Given the description of an element on the screen output the (x, y) to click on. 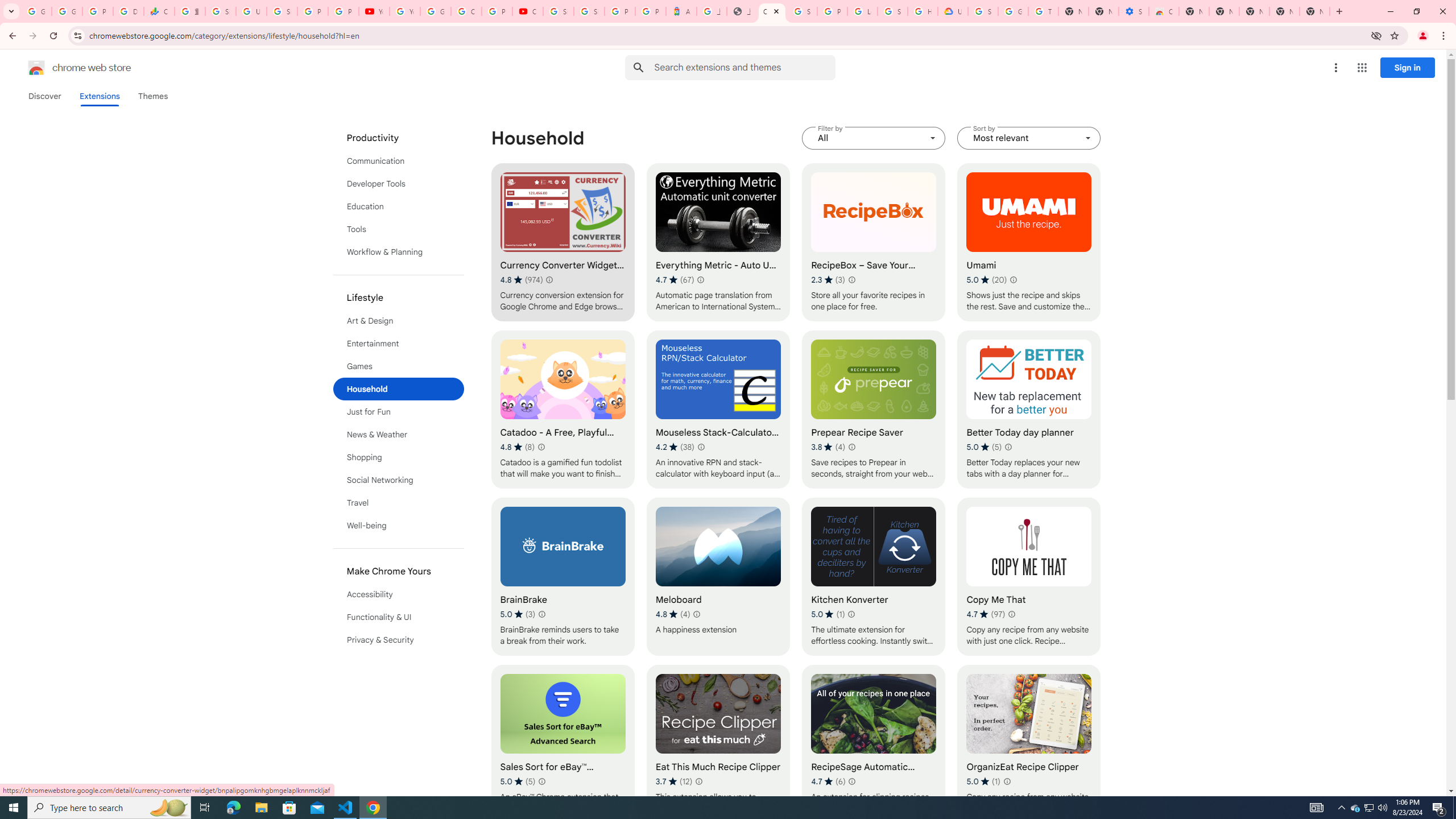
Average rating 5 out of 5 stars. 5 ratings. (517, 781)
Currency Converter Widget - Exchange Rates (562, 241)
Search input (744, 67)
New Tab (1193, 11)
Umami (1028, 241)
Atour Hotel - Google hotels (681, 11)
